Given the description of an element on the screen output the (x, y) to click on. 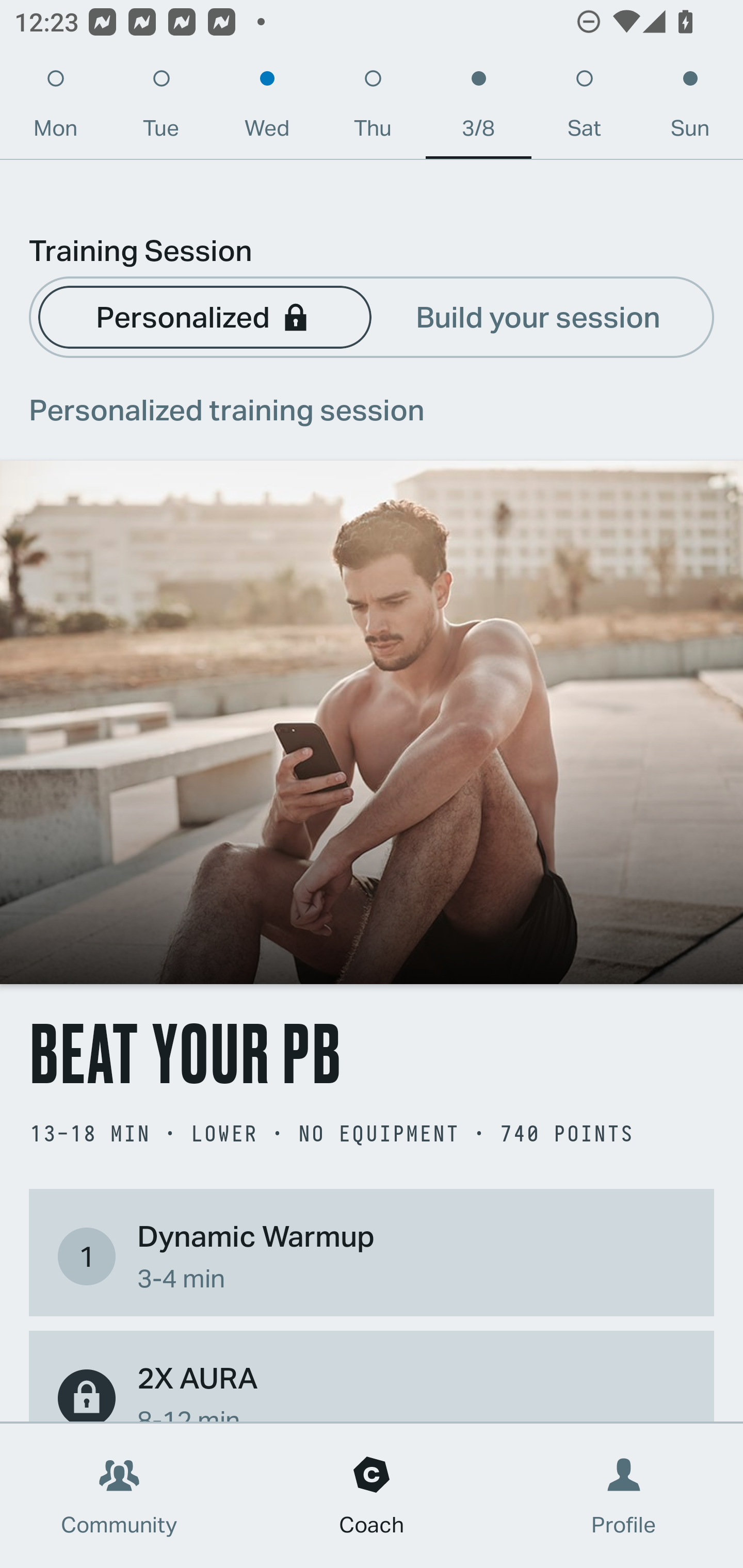
Mon (55, 108)
Tue (160, 108)
Wed (266, 108)
Thu (372, 108)
3/8 (478, 108)
Sat (584, 108)
Sun (690, 108)
Personalized (204, 315)
Build your session (538, 315)
1 Dynamic Warmup 3-4 min (371, 1256)
2X AURA 8-12 min (371, 1388)
Community (119, 1495)
Profile (624, 1495)
